Given the description of an element on the screen output the (x, y) to click on. 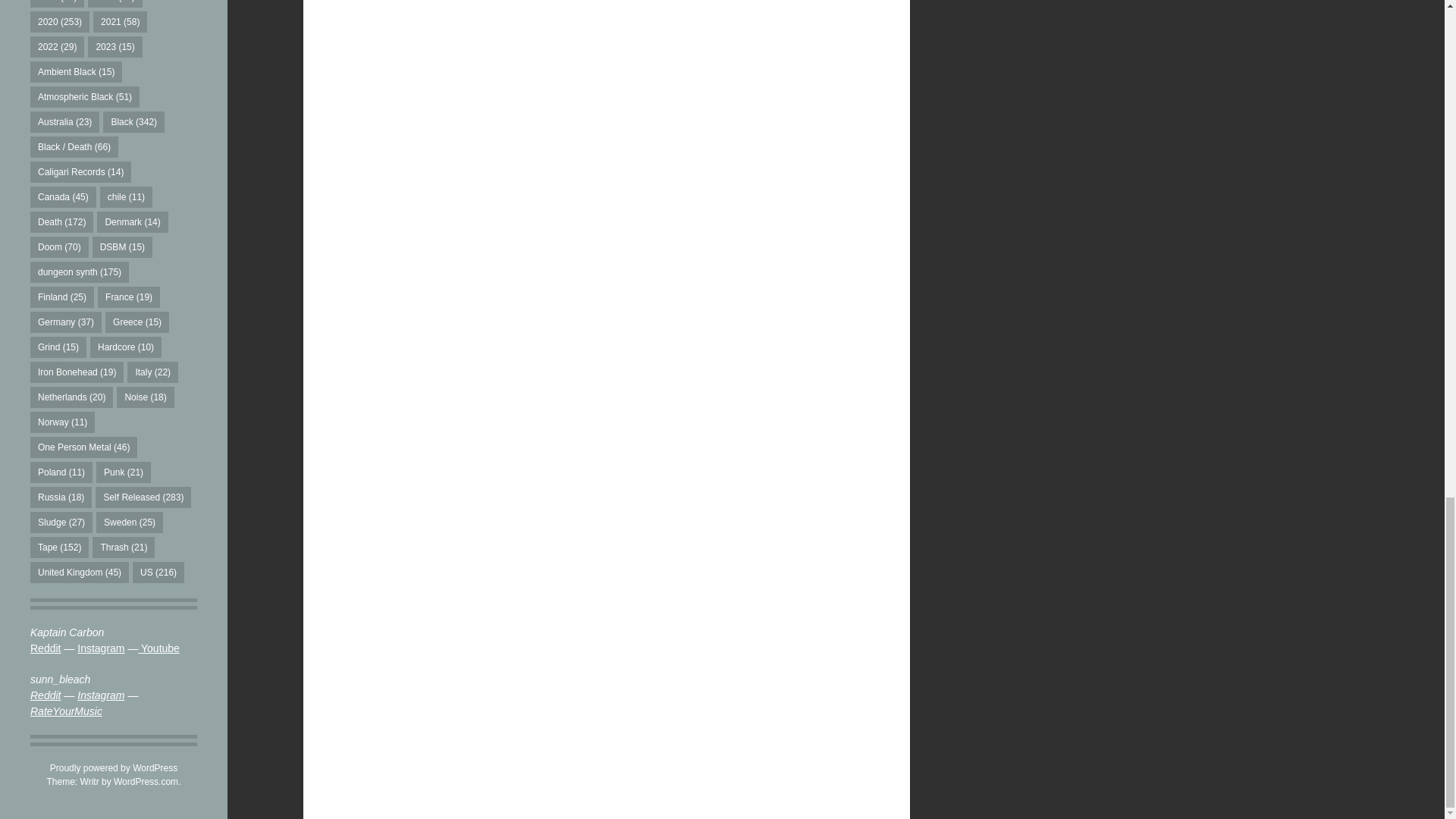
A Semantic Personal Publishing Platform (113, 767)
